Given the description of an element on the screen output the (x, y) to click on. 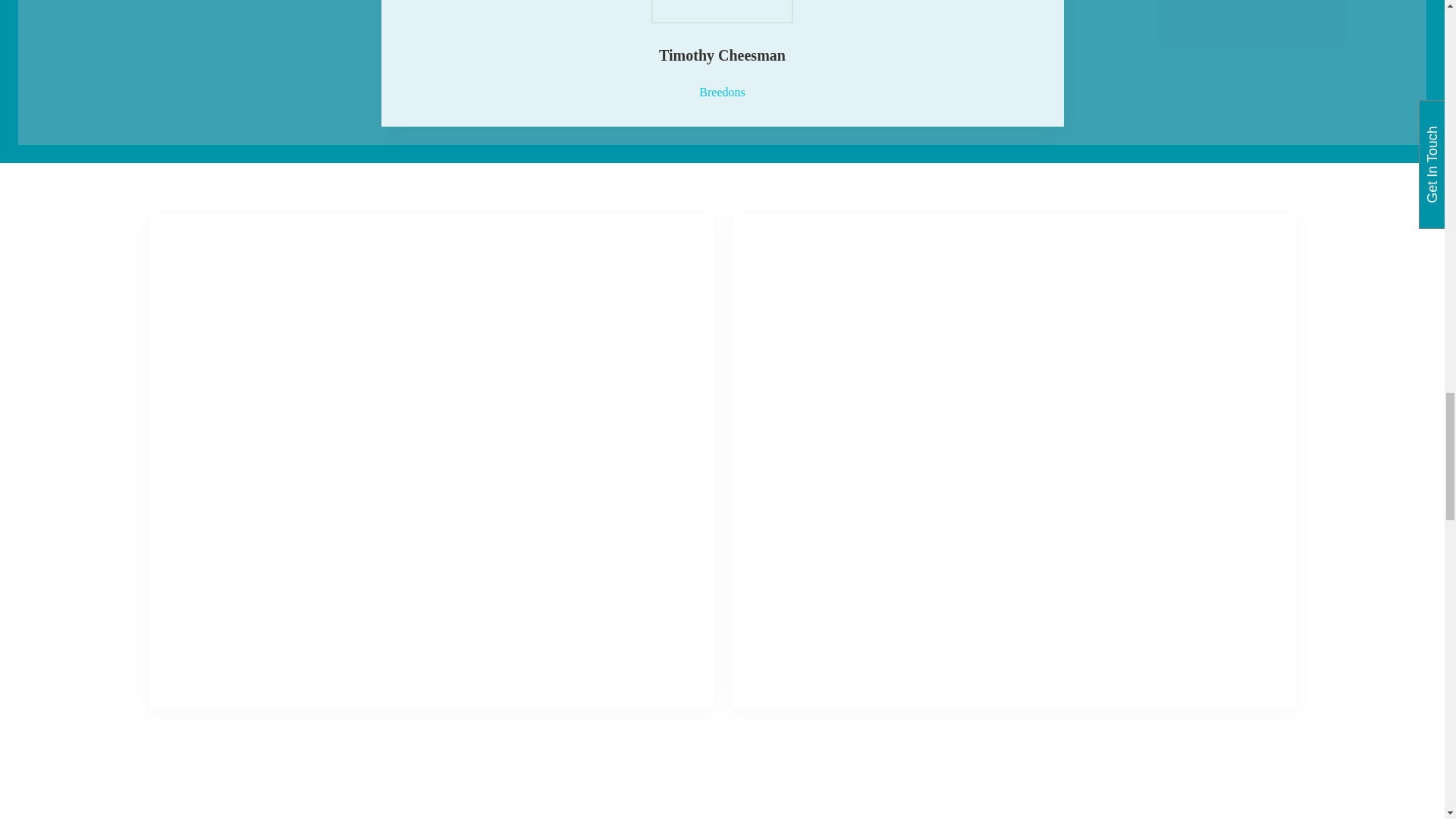
Breedons (721, 91)
